Given the description of an element on the screen output the (x, y) to click on. 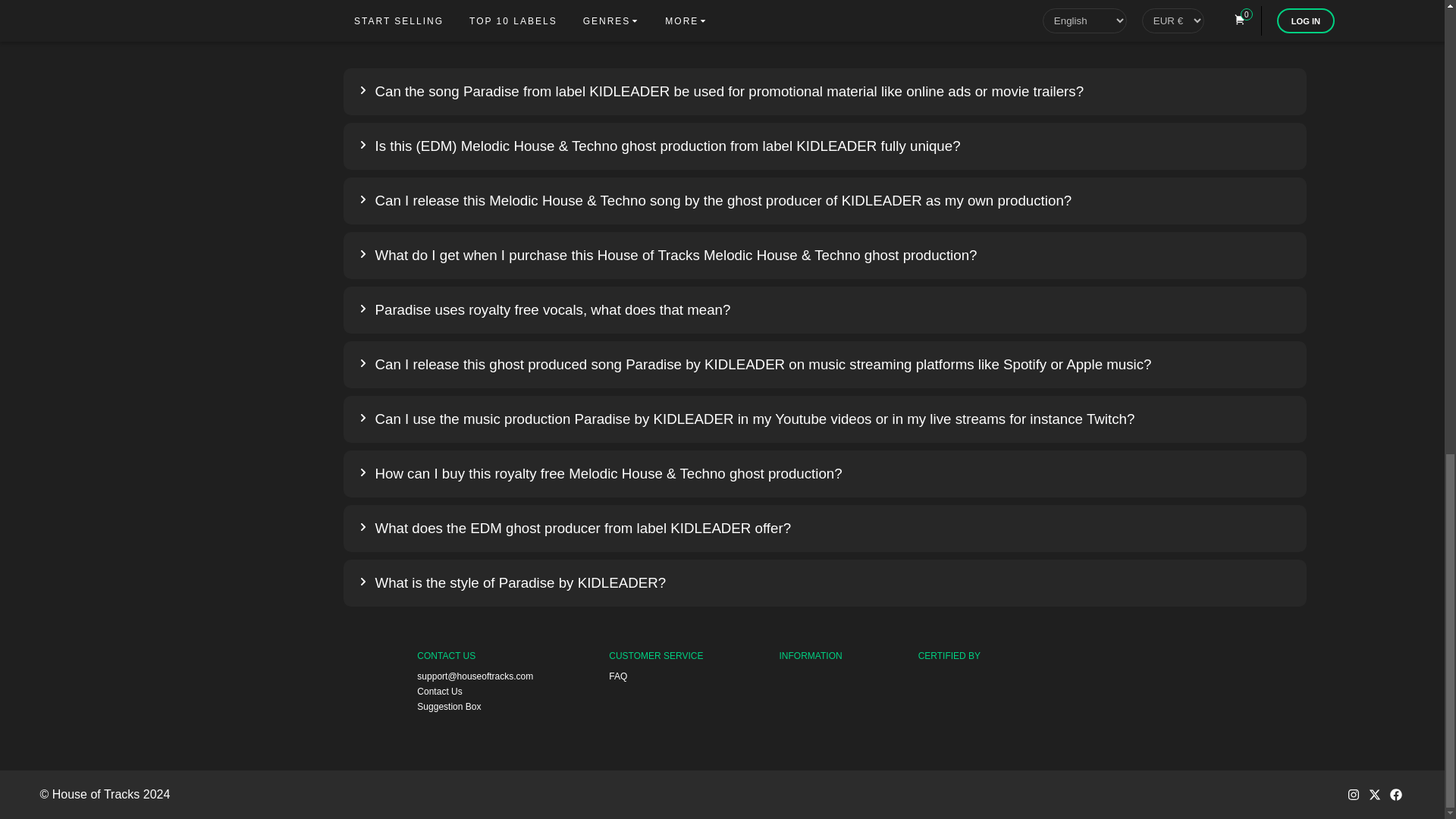
Suggestion Box (474, 706)
Instagram (1352, 794)
Email us at (474, 676)
X (1374, 794)
Facebook (1395, 794)
AFEM approved (972, 722)
Contact Us (474, 691)
Dj monitor (972, 683)
FAQ (655, 676)
